Given the description of an element on the screen output the (x, y) to click on. 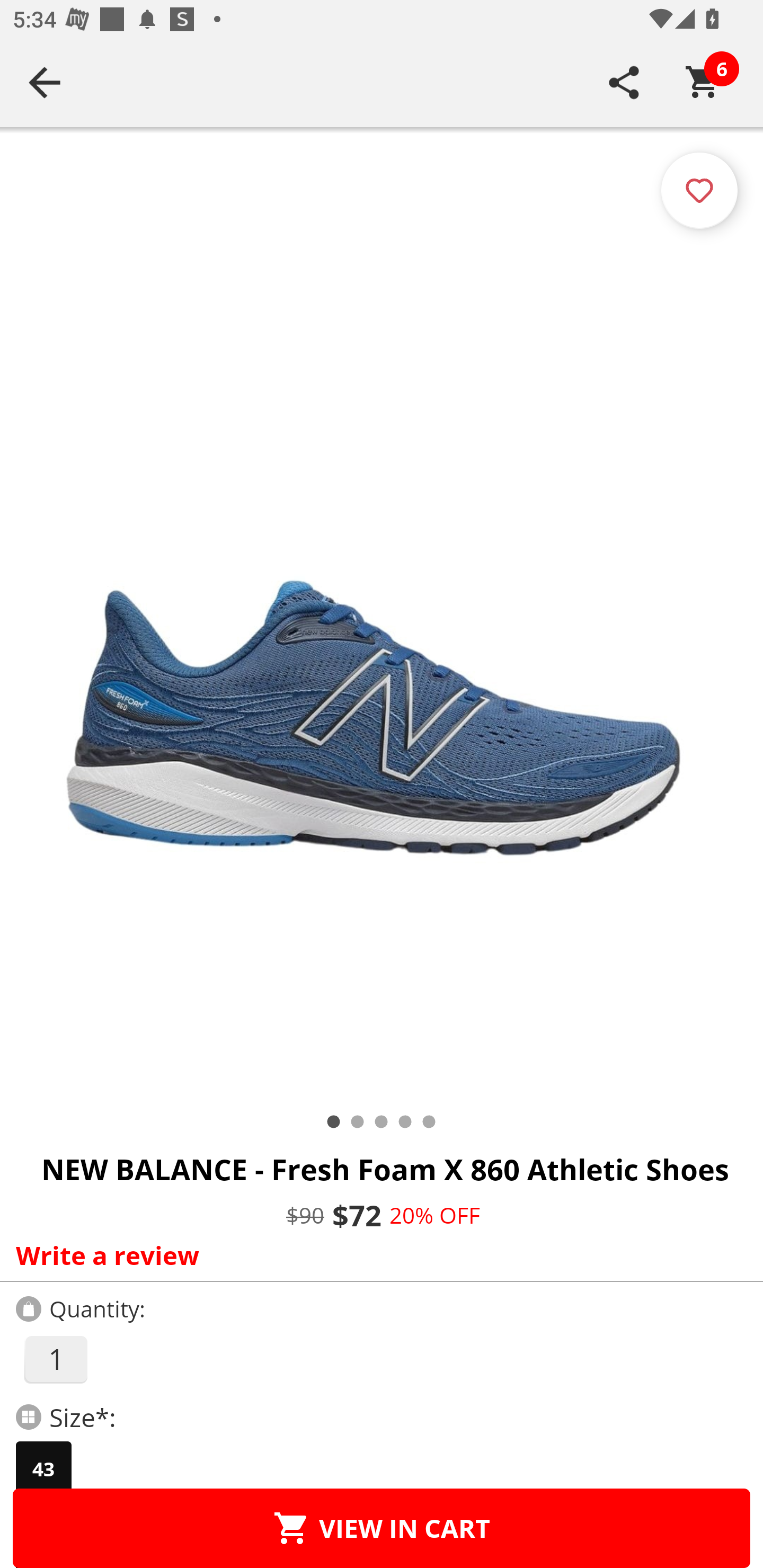
Navigate up (44, 82)
SHARE (623, 82)
Cart (703, 81)
Write a review (377, 1255)
1 (55, 1358)
43 (43, 1468)
VIEW IN CART (381, 1528)
